Given the description of an element on the screen output the (x, y) to click on. 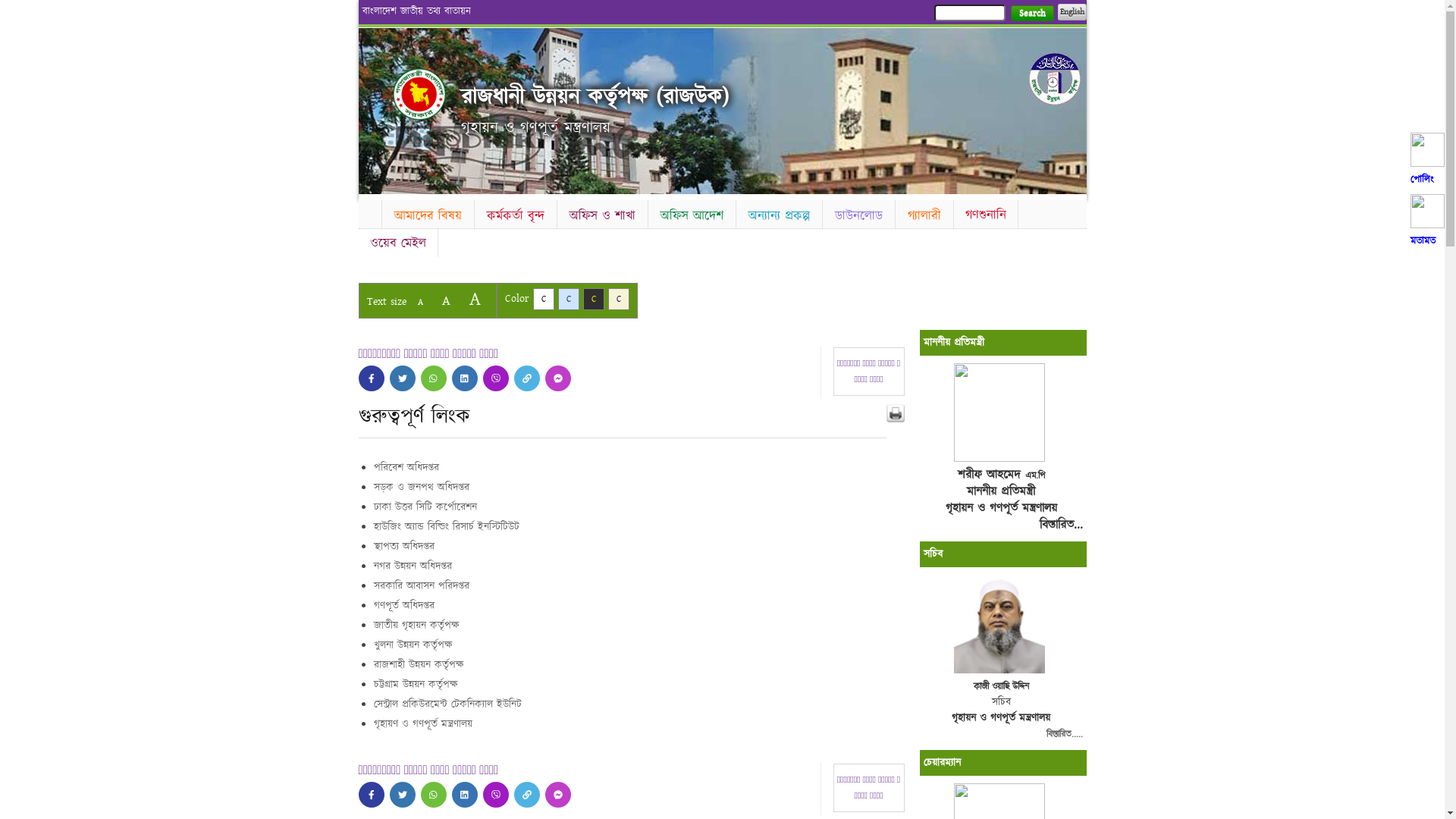
C Element type: text (542, 299)
C Element type: text (618, 299)
A Element type: text (474, 298)
English Element type: text (1071, 11)
A Element type: text (419, 301)
C Element type: text (592, 299)
C Element type: text (568, 299)
Home Element type: hover (368, 211)
A Element type: text (445, 300)
Search Element type: text (1031, 13)
Home Element type: hover (418, 93)
